Given the description of an element on the screen output the (x, y) to click on. 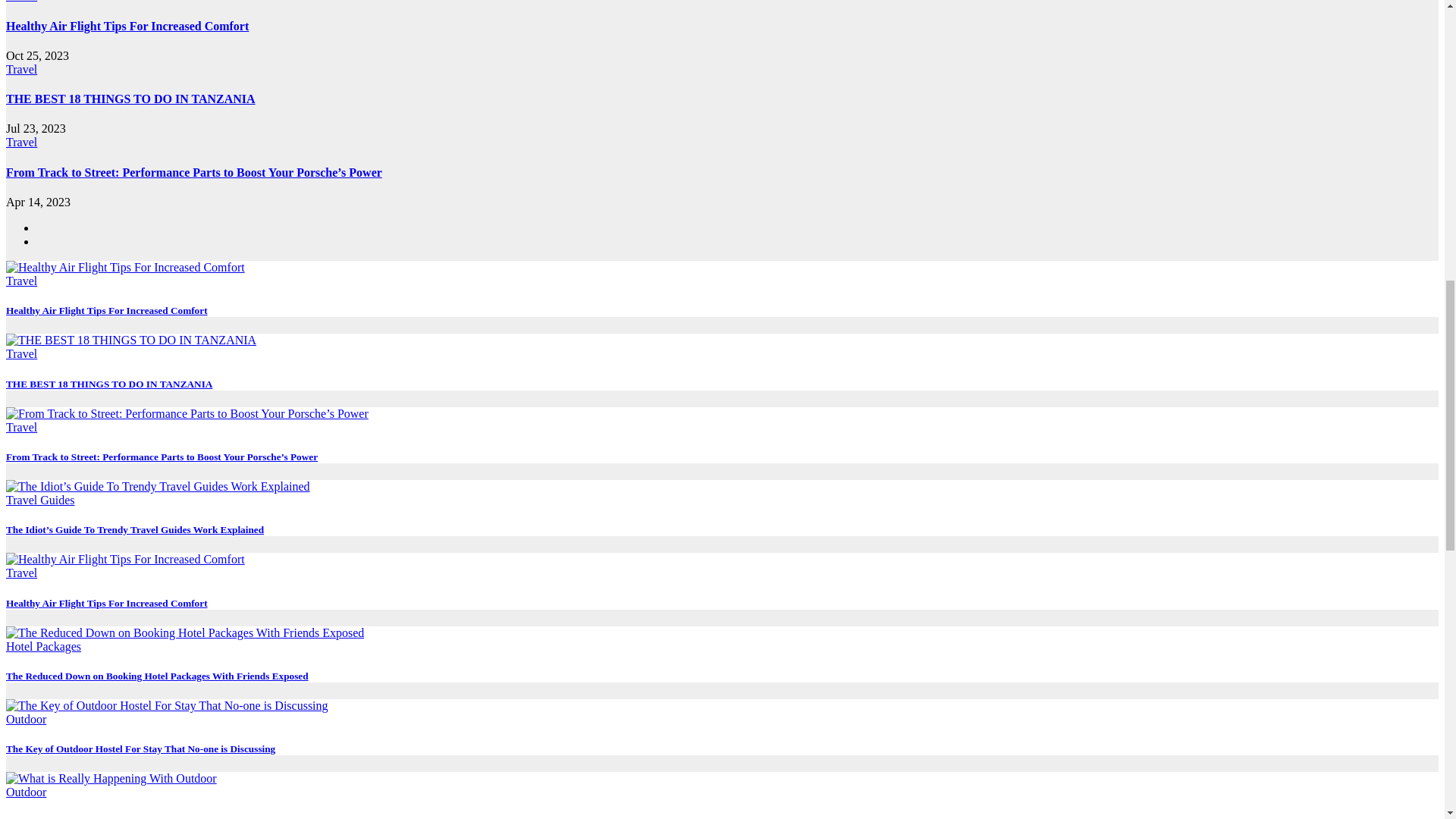
THE BEST 18 THINGS TO DO IN TANZANIA (130, 98)
Healthy Air Flight Tips For Increased Comfort (126, 25)
Permalink to: THE BEST 18 THINGS TO DO IN TANZANIA (130, 98)
Travel (21, 69)
Travel (21, 141)
Permalink to: Healthy Air Flight Tips For Increased Comfort (126, 25)
Travel (21, 1)
